Given the description of an element on the screen output the (x, y) to click on. 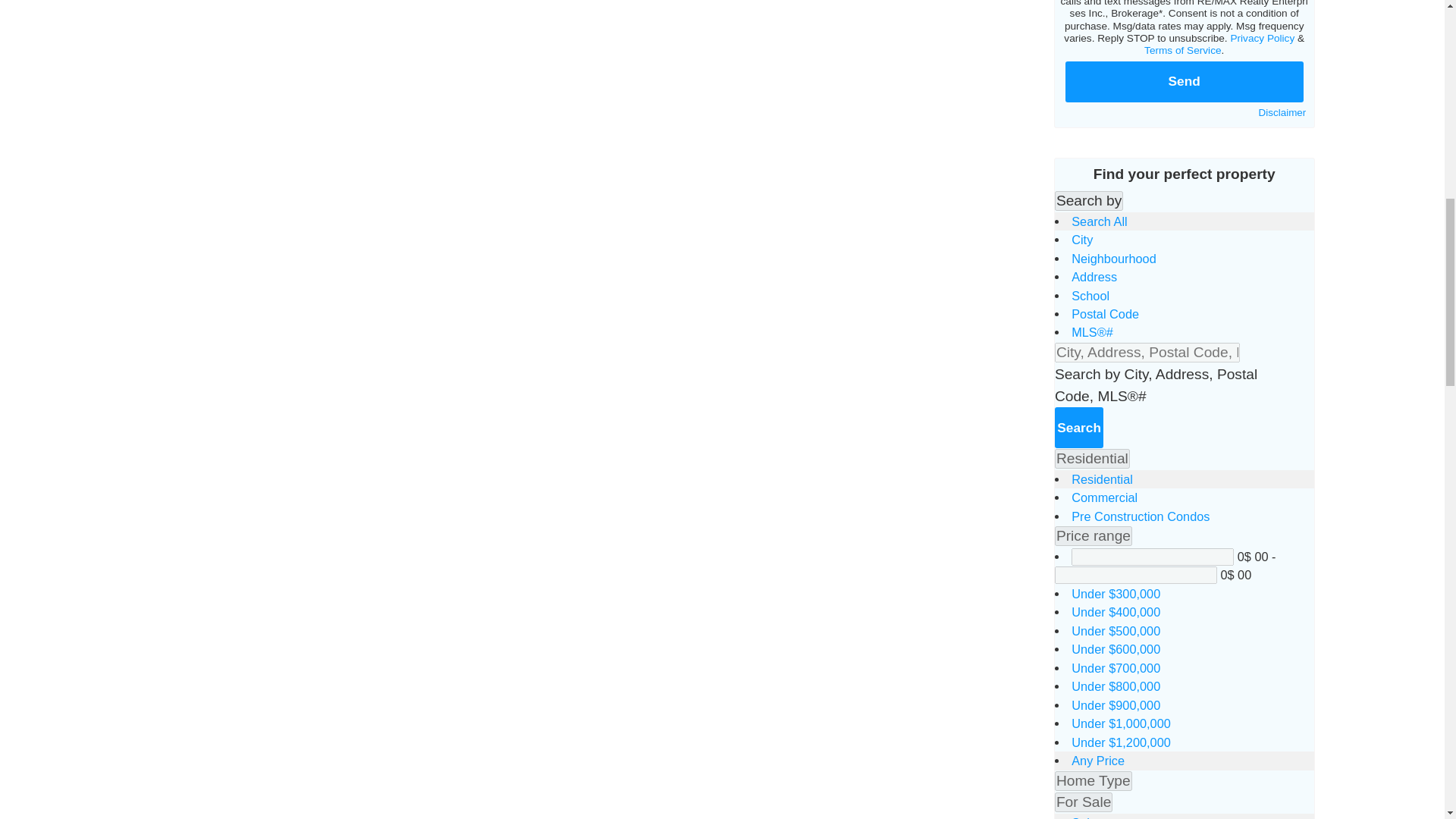
Send (1184, 81)
